Given the description of an element on the screen output the (x, y) to click on. 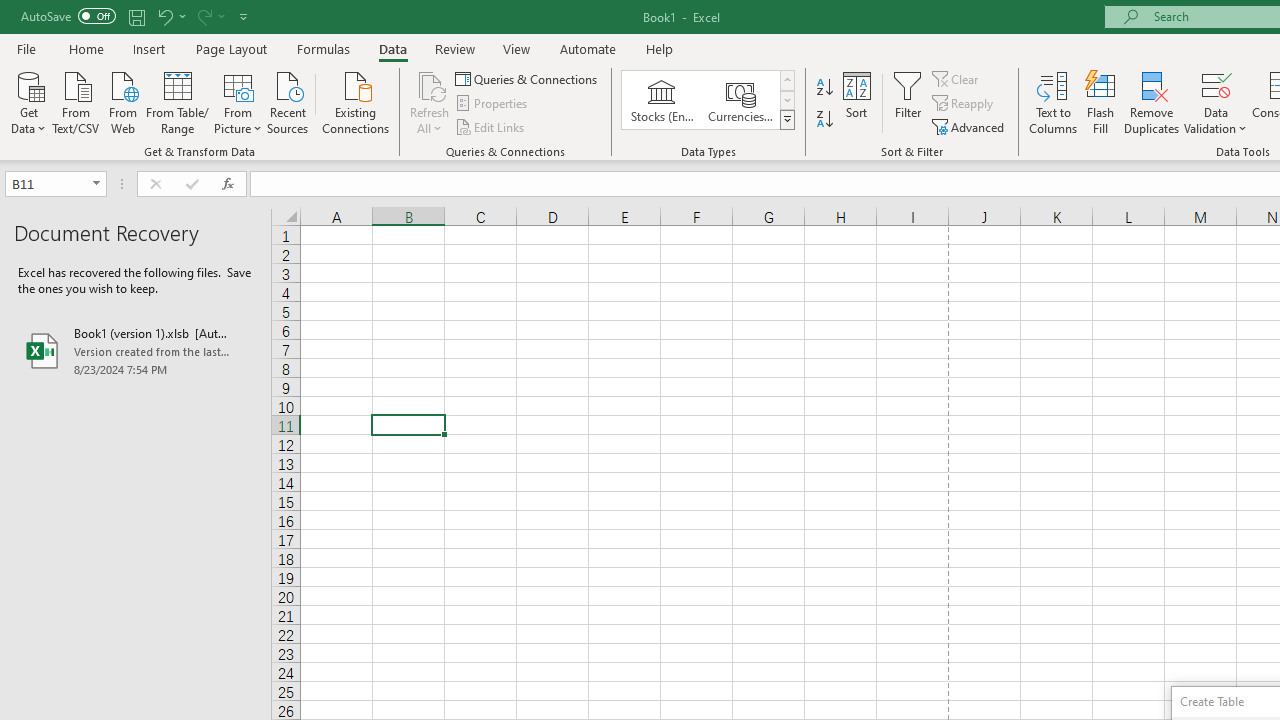
Sort A to Z (824, 87)
Stocks (English) (662, 100)
Sort... (856, 102)
Data Types (786, 120)
Existing Connections (355, 101)
AutoSave (68, 16)
Row Down (786, 100)
Refresh All (429, 84)
Queries & Connections (527, 78)
Filter (908, 102)
Text to Columns... (1053, 102)
